Given the description of an element on the screen output the (x, y) to click on. 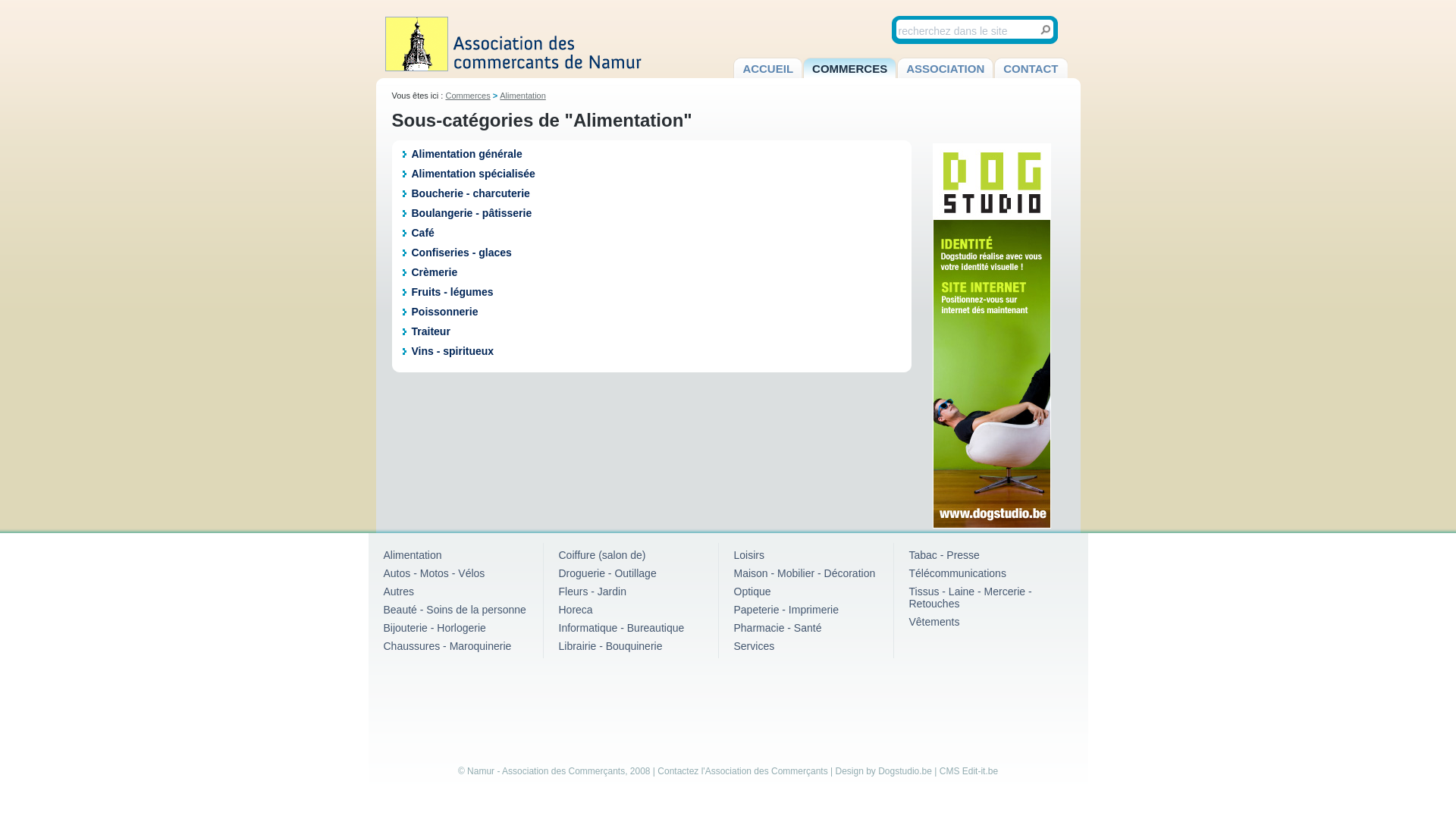
Vins - spiritueux Element type: text (452, 351)
ACCUEIL Element type: text (767, 67)
Autres Element type: text (398, 591)
  Element type: text (1045, 29)
Bijouterie - Horlogerie Element type: text (434, 627)
Informatique - Bureautique Element type: text (621, 627)
Commerces Element type: text (467, 95)
Boucherie - charcuterie Element type: text (470, 193)
COMMERCES Element type: text (849, 67)
Optique Element type: text (752, 591)
Papeterie - Imprimerie Element type: text (786, 609)
Alimentation Element type: text (522, 95)
ASSOCIATION Element type: text (945, 67)
Chaussures - Maroquinerie Element type: text (447, 646)
Poissonnerie Element type: text (444, 311)
Fleurs - Jardin Element type: text (591, 591)
CONTACT Element type: text (1030, 67)
Design by Dogstudio.be Element type: text (883, 770)
Traiteur Element type: text (430, 331)
Droguerie - Outillage Element type: text (606, 573)
Tabac - Presse Element type: text (943, 555)
CMS Edit-it.be Element type: text (968, 770)
Confiseries - glaces Element type: text (461, 252)
Librairie - Bouquinerie Element type: text (610, 646)
Coiffure (salon de) Element type: text (601, 555)
Tissus - Laine - Mercerie - Retouches Element type: text (969, 597)
